Given the description of an element on the screen output the (x, y) to click on. 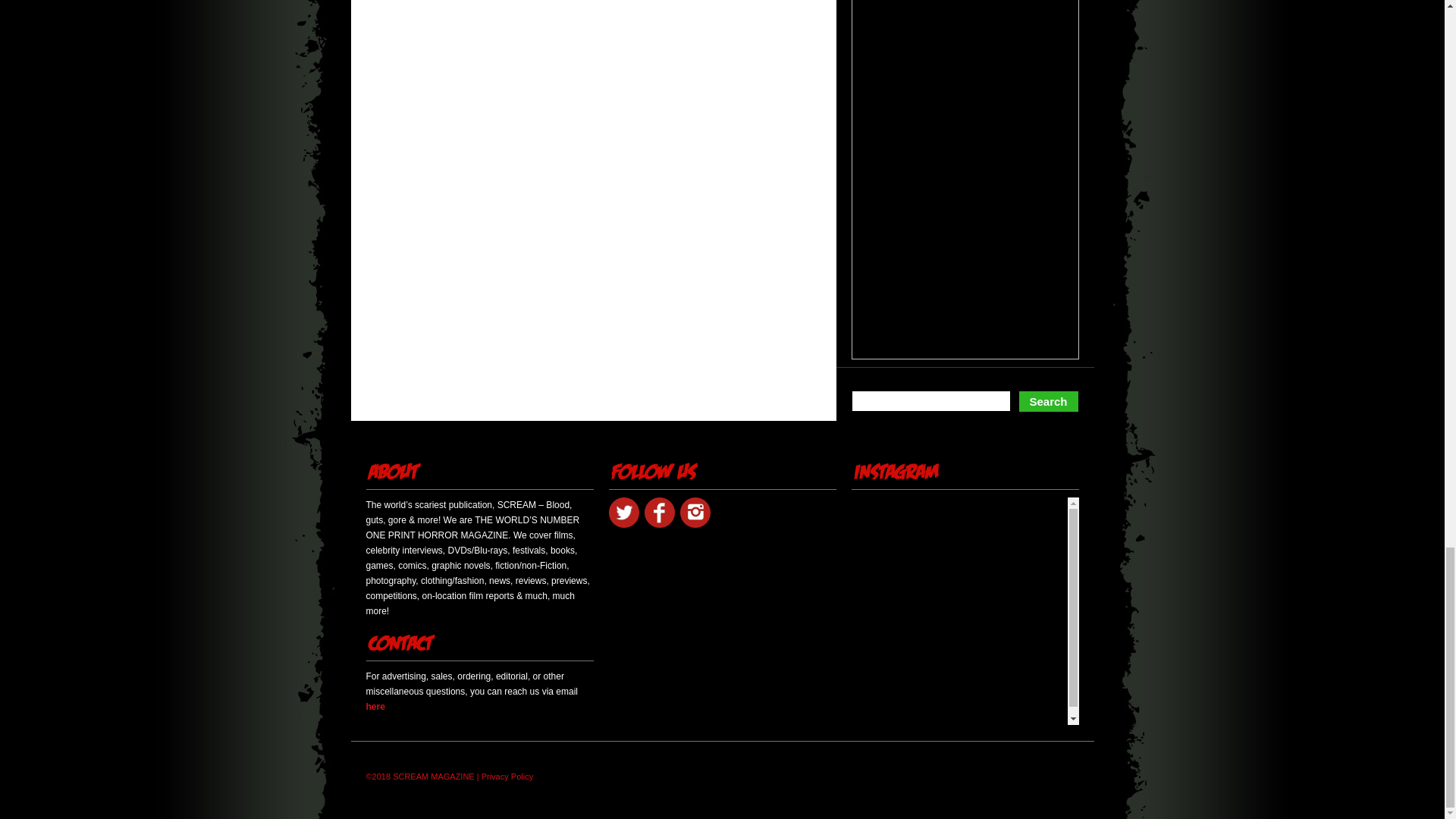
Search (1047, 401)
Search (1047, 401)
here (374, 706)
Privacy Policy (506, 776)
